Given the description of an element on the screen output the (x, y) to click on. 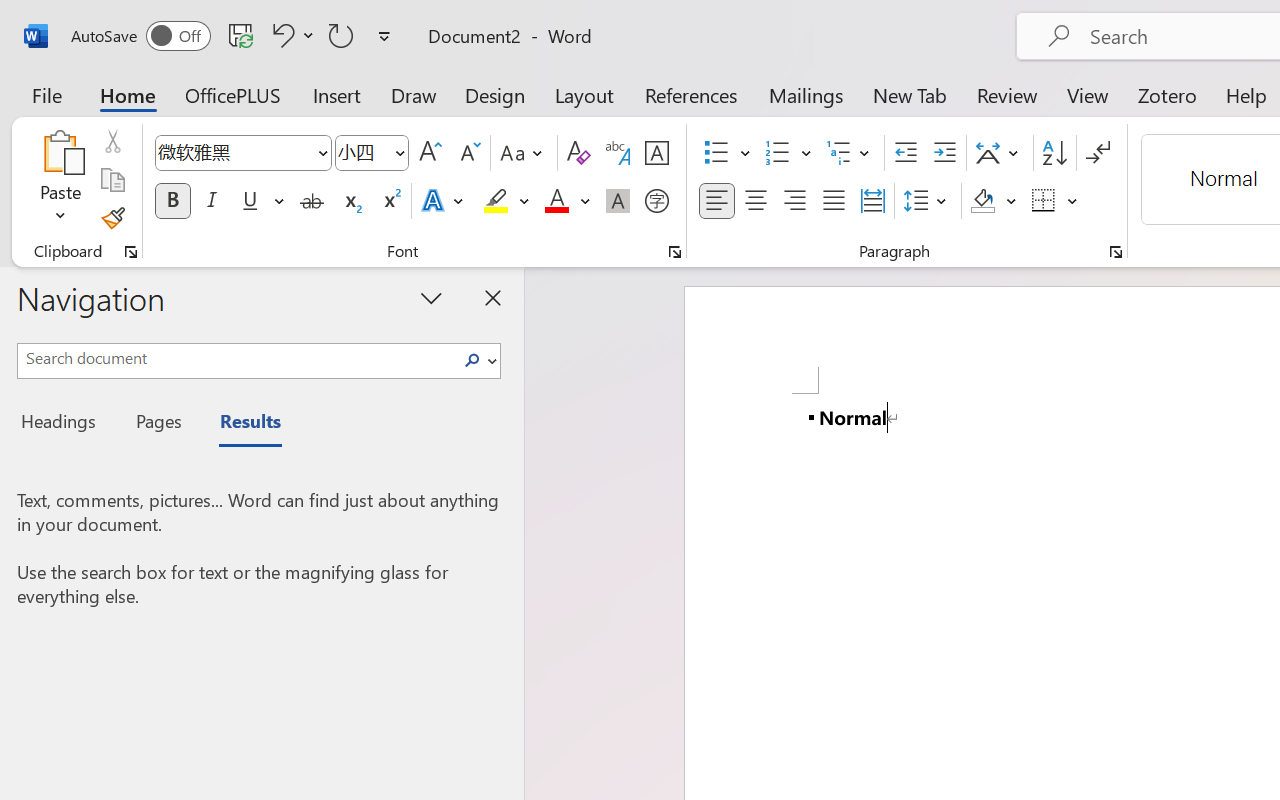
Undo <ApplyStyleToDoc>b__0 (280, 35)
Sort... (1054, 153)
Font (242, 153)
Text Effects and Typography (444, 201)
Asian Layout (1000, 153)
Results (240, 424)
Home (127, 94)
Align Right (794, 201)
Font... (675, 252)
Underline (261, 201)
File Tab (46, 94)
Decrease Indent (906, 153)
Search document (236, 358)
Font Color (567, 201)
Character Shading (618, 201)
